Given the description of an element on the screen output the (x, y) to click on. 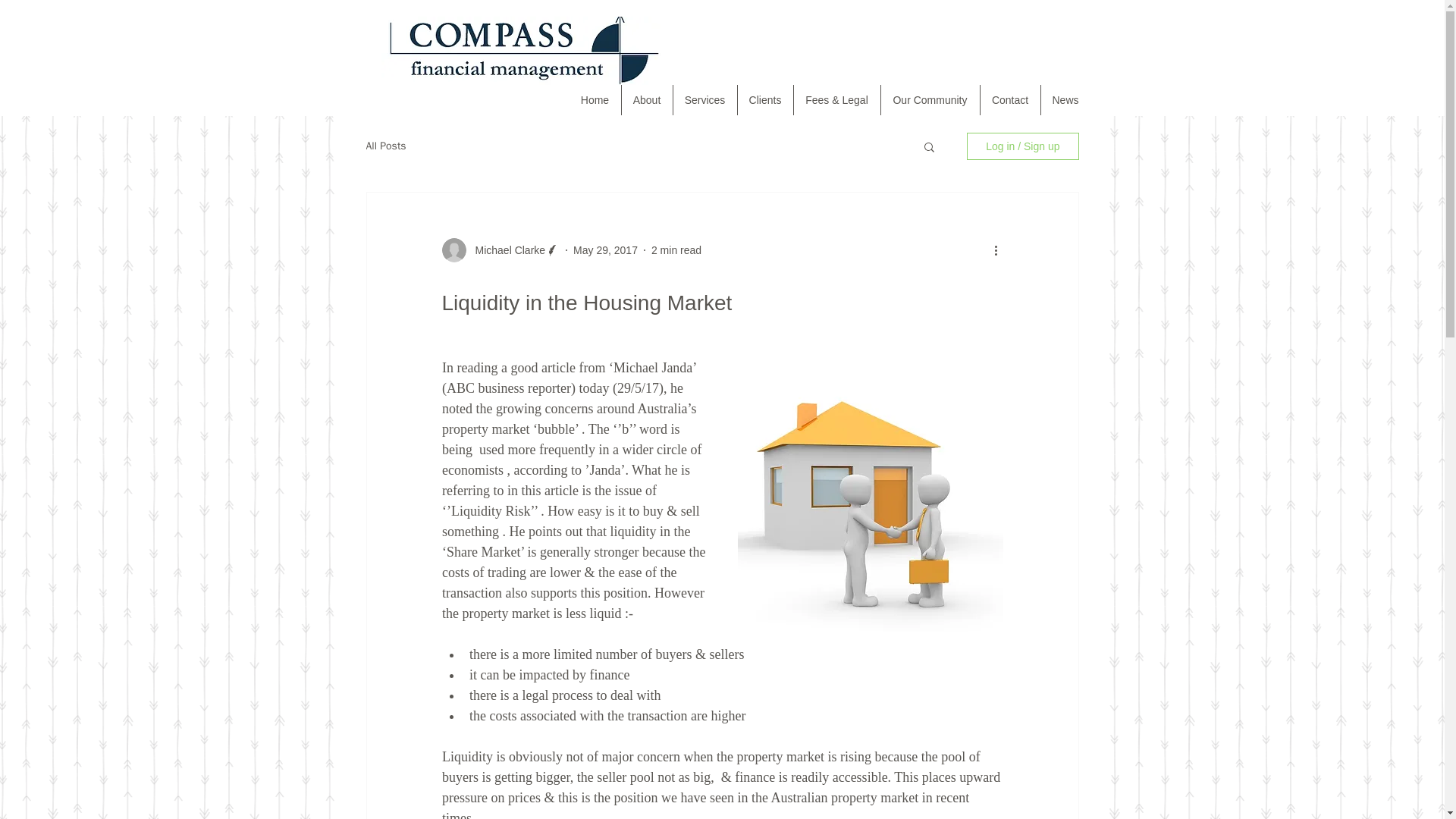
2 min read (675, 250)
Clients (764, 100)
Services (704, 100)
About (646, 100)
Michael  Clarke (504, 250)
Home (594, 100)
All Posts (385, 146)
Our Community (929, 100)
May 29, 2017 (605, 250)
Contact (1009, 100)
News (1065, 100)
